Given the description of an element on the screen output the (x, y) to click on. 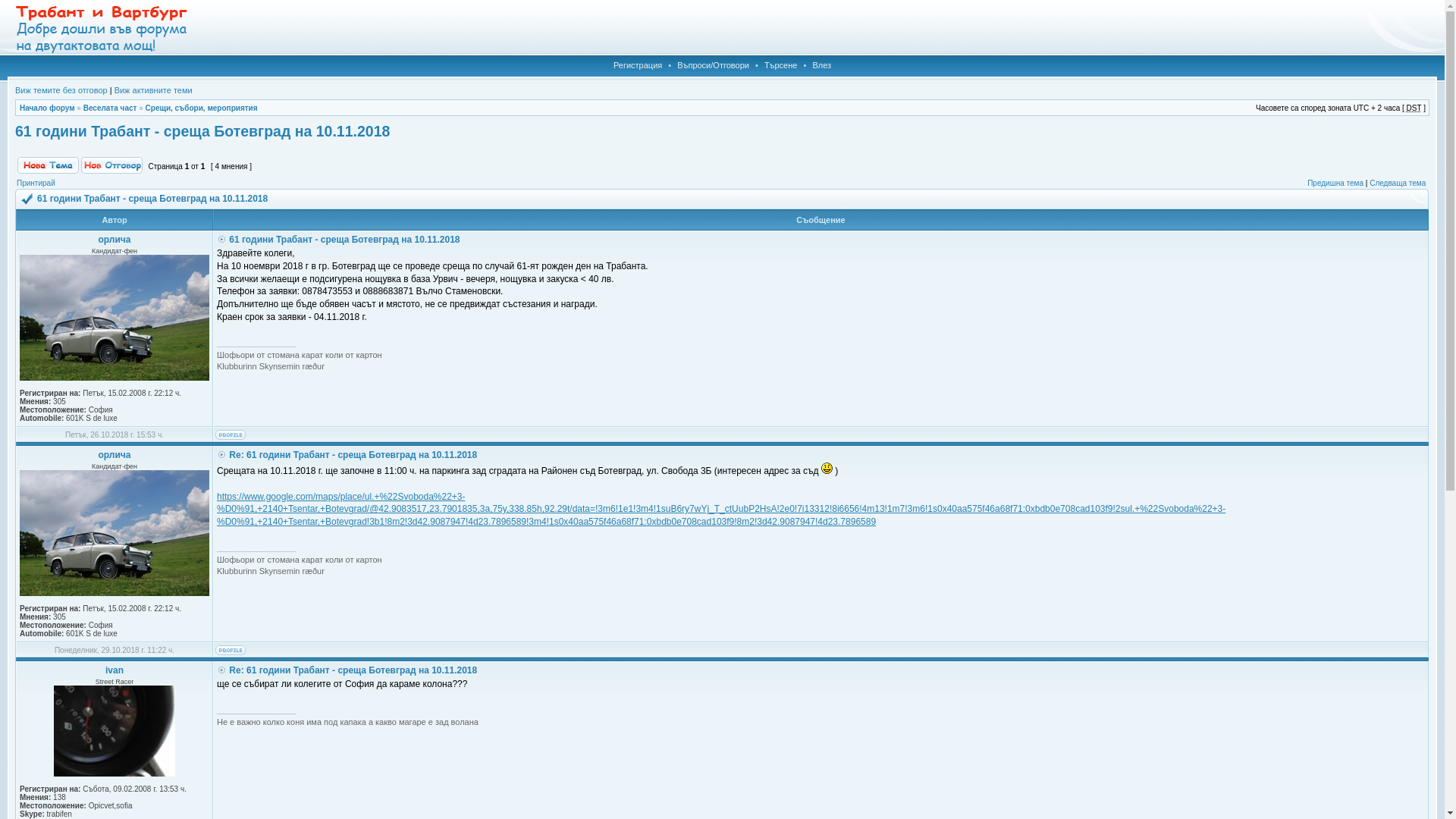
Smile Element type: hover (826, 467)
